Given the description of an element on the screen output the (x, y) to click on. 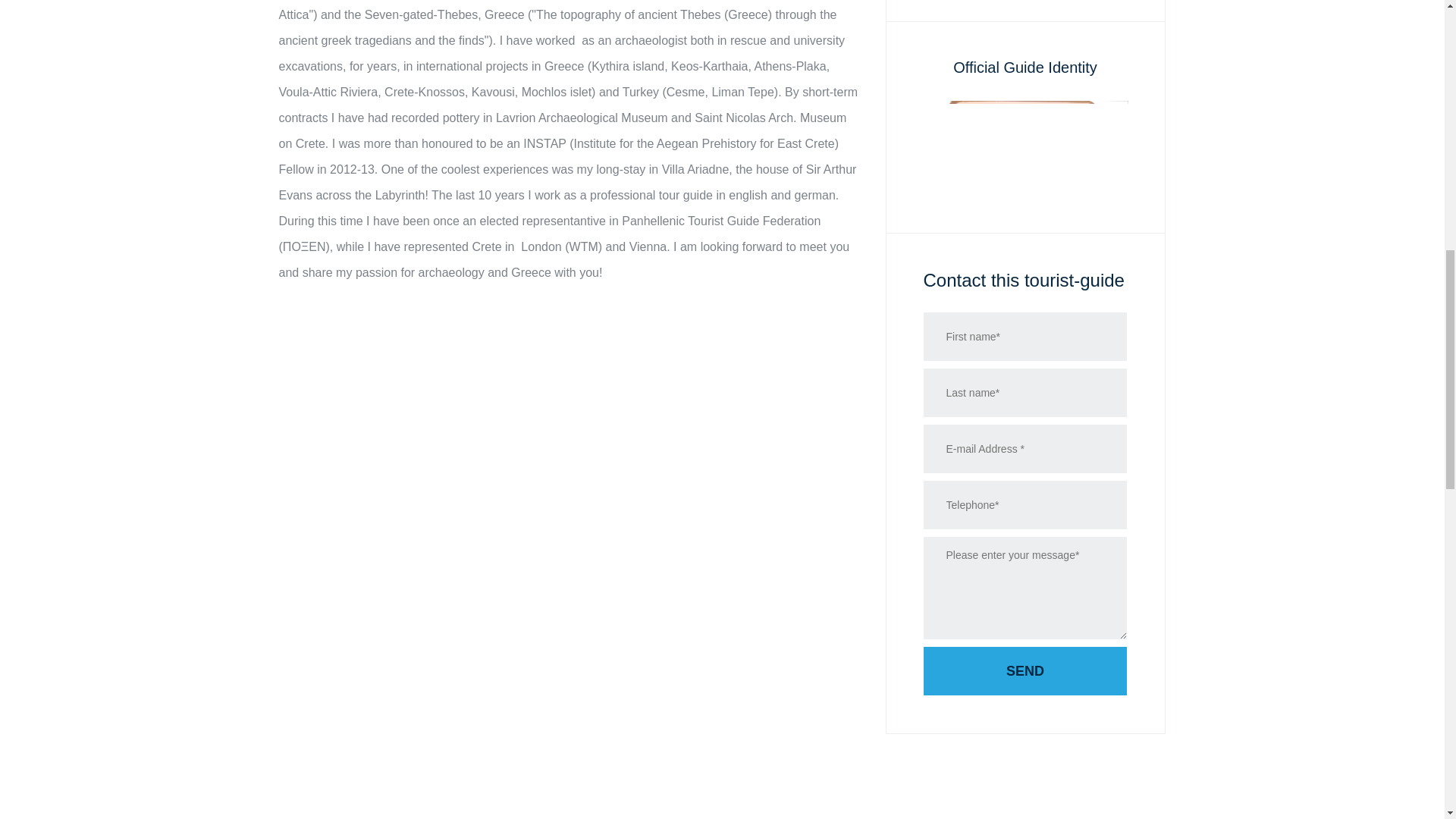
SEND (1024, 671)
